Given the description of an element on the screen output the (x, y) to click on. 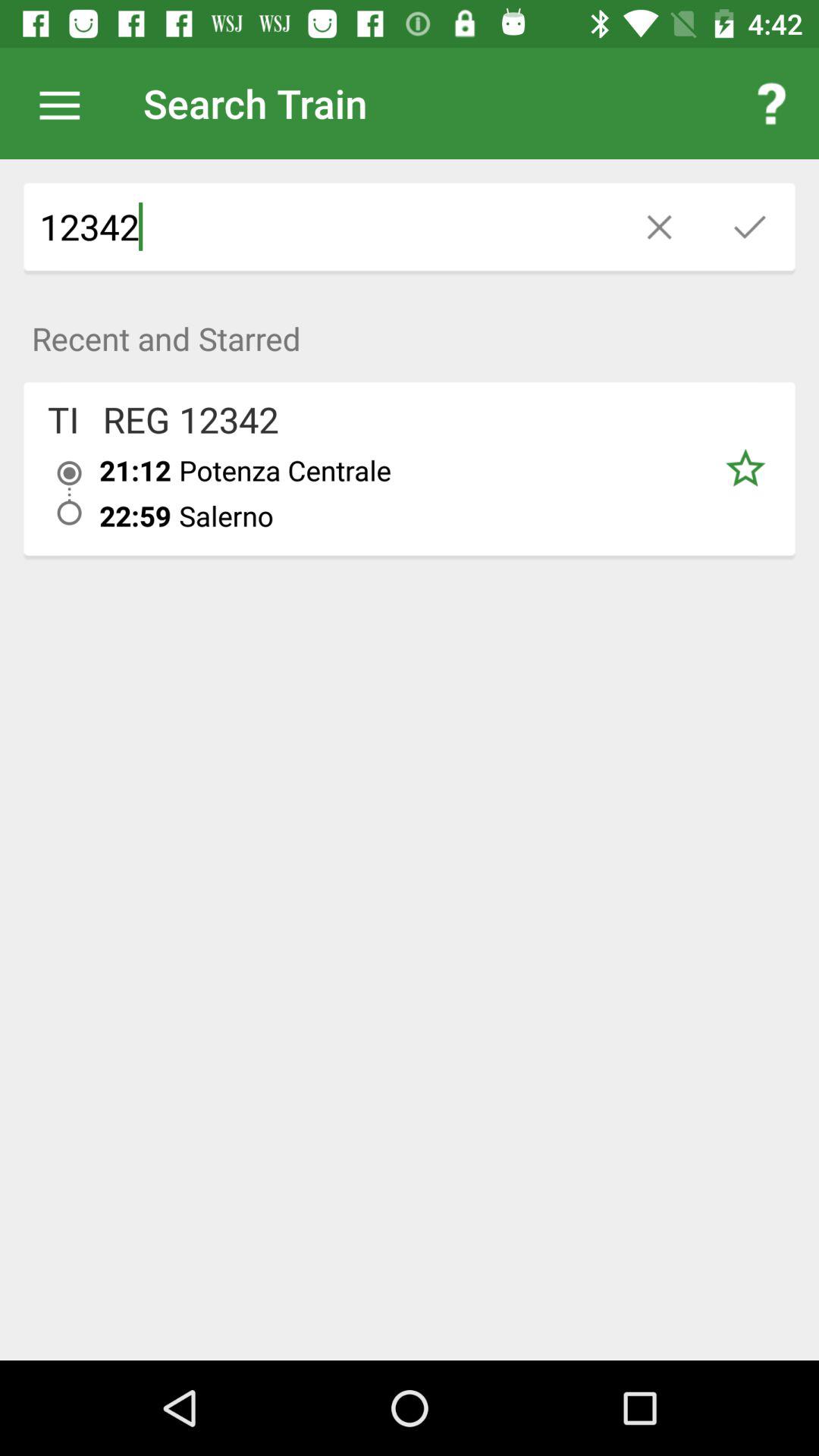
click on star button which is next to potenza centrale (745, 468)
click on the tick button at the top right side of the page (749, 226)
click on the 12342 (319, 226)
